Given the description of an element on the screen output the (x, y) to click on. 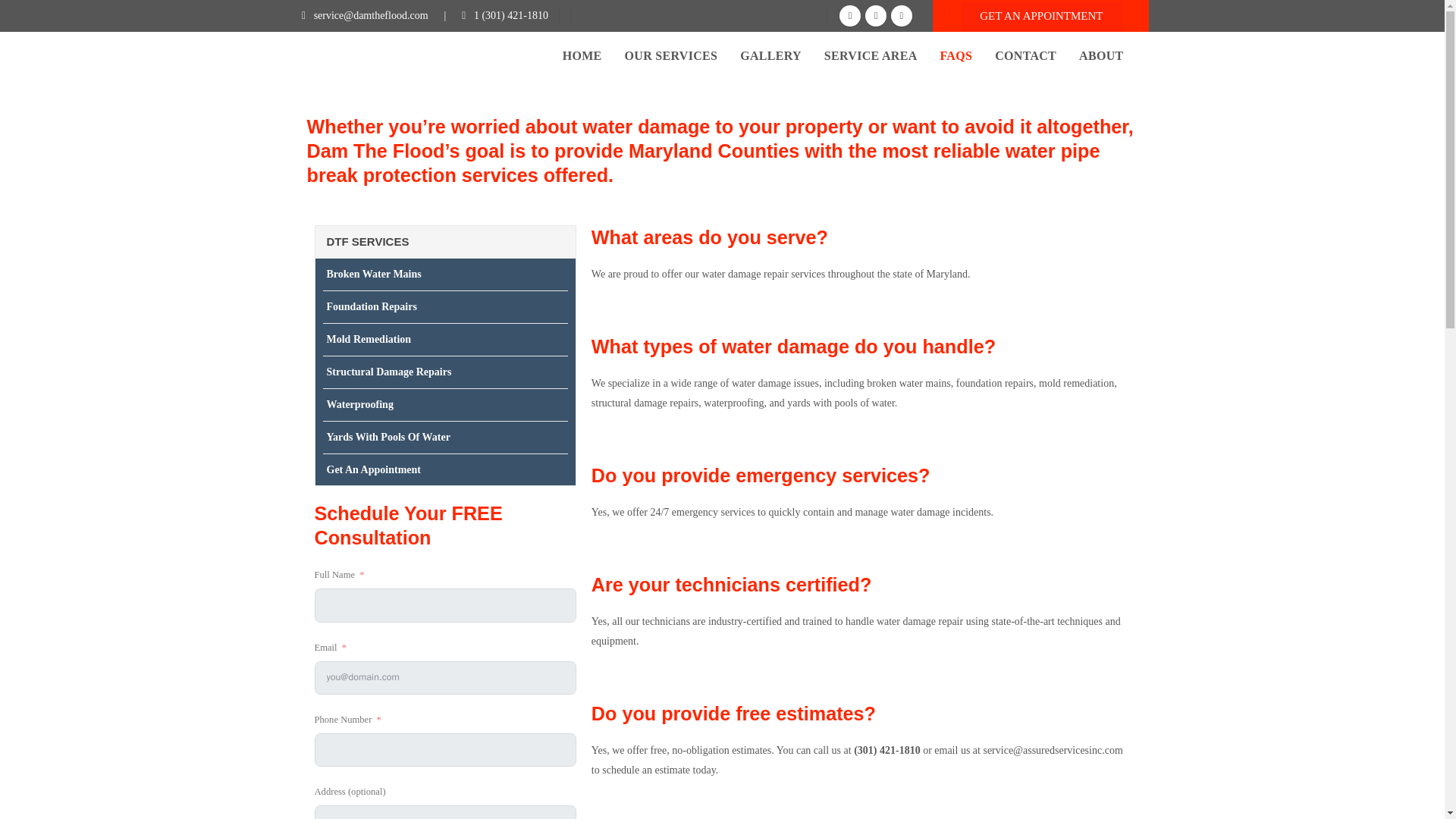
Broken Water Mains (445, 273)
GET AN APPOINTMENT (1040, 16)
Waterproofing (445, 404)
ABOUT (1100, 55)
SERVICE AREA (870, 55)
GALLERY (770, 55)
Yards With Pools Of Water (445, 436)
OUR SERVICES (670, 55)
Twitter (875, 15)
Facebook (850, 15)
